Given the description of an element on the screen output the (x, y) to click on. 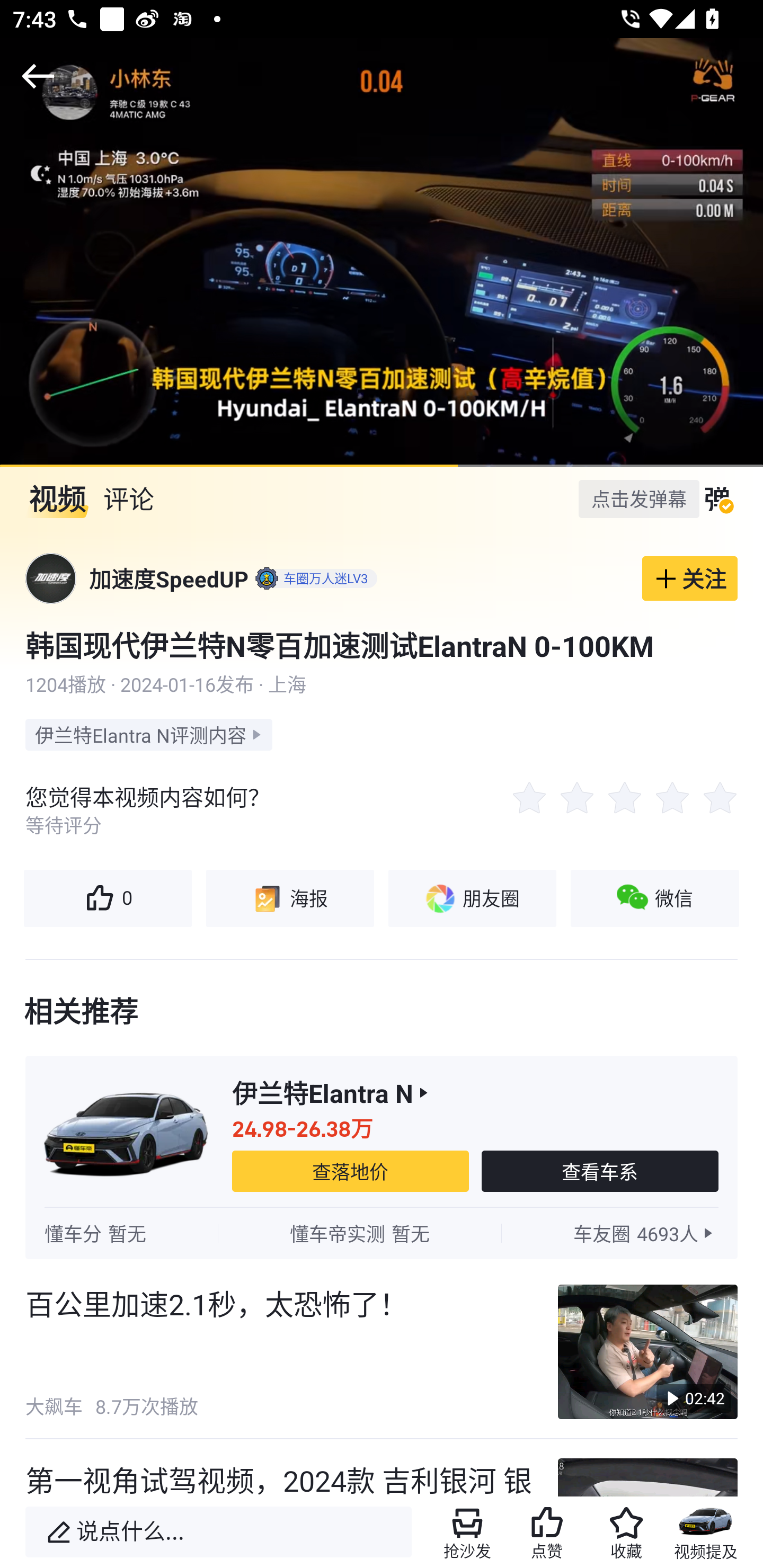
60.0 (381, 252)
 (38, 75)
视频 (57, 499)
评论 (128, 499)
点击发弹幕 (638, 498)
 关注 (689, 578)
加速度SpeedUP (168, 578)
车圈万人迷LV3 (313, 578)
韩国现代伊兰特N零百加速测试ElantraN 0-100KM (381, 644)
伊兰特Elantra N评测内容  (148, 734)
0 (107, 898)
海报 (289, 898)
朋友圈 (472, 898)
微信 (654, 898)
查落地价 (350, 1170)
查看车系 (599, 1170)
懂车分 暂无 懂车帝实测 暂无 车友圈 4693人  (381, 1233)
车友圈 4693人  (645, 1232)
百公里加速2.1秒，太恐怖了！ 大飙车 8.7万次播放  02:42 (381, 1352)
 抢沙发 (467, 1531)
点赞 (546, 1531)
收藏 (625, 1531)
视频提及 (705, 1531)
 说点什么... (218, 1531)
